Given the description of an element on the screen output the (x, y) to click on. 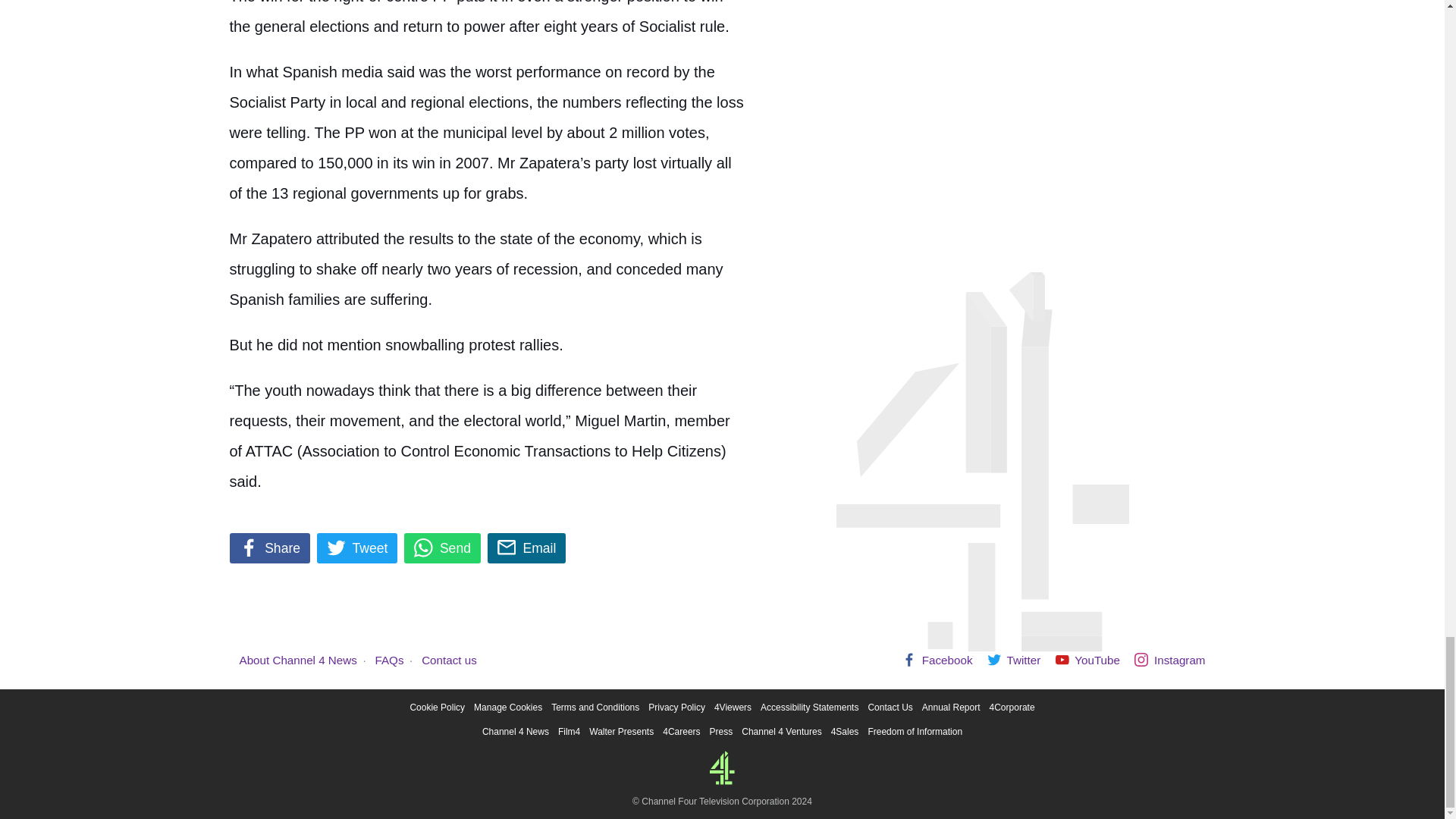
Twitter (1014, 659)
Contact us (449, 659)
Facebook (937, 659)
YouTube (1087, 659)
FAQs (389, 659)
Tweet (357, 548)
About Channel 4 News (298, 659)
Email (526, 548)
Send (442, 548)
Share (269, 548)
